Given the description of an element on the screen output the (x, y) to click on. 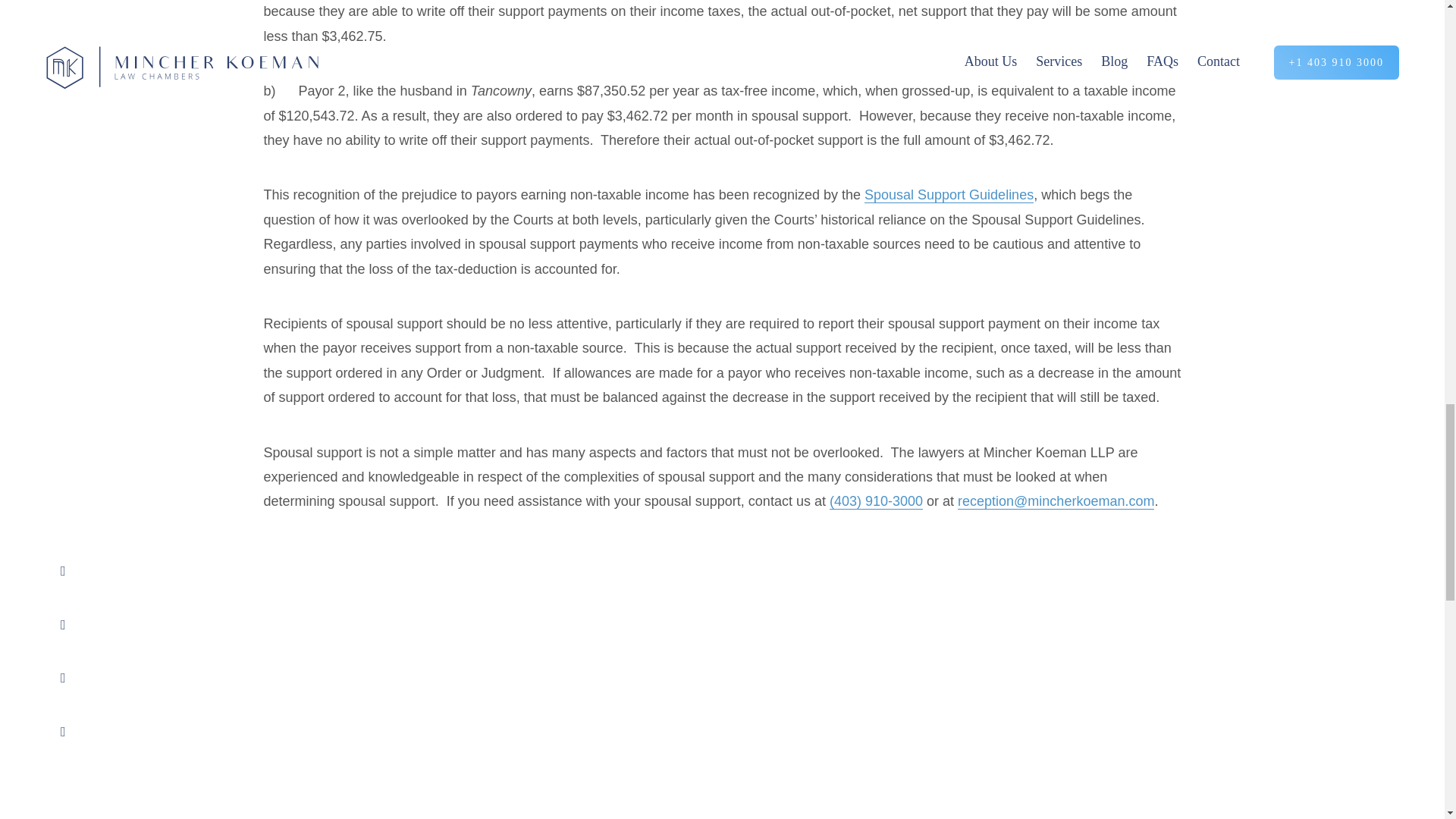
Spousal Support Guidelines (948, 195)
